Given the description of an element on the screen output the (x, y) to click on. 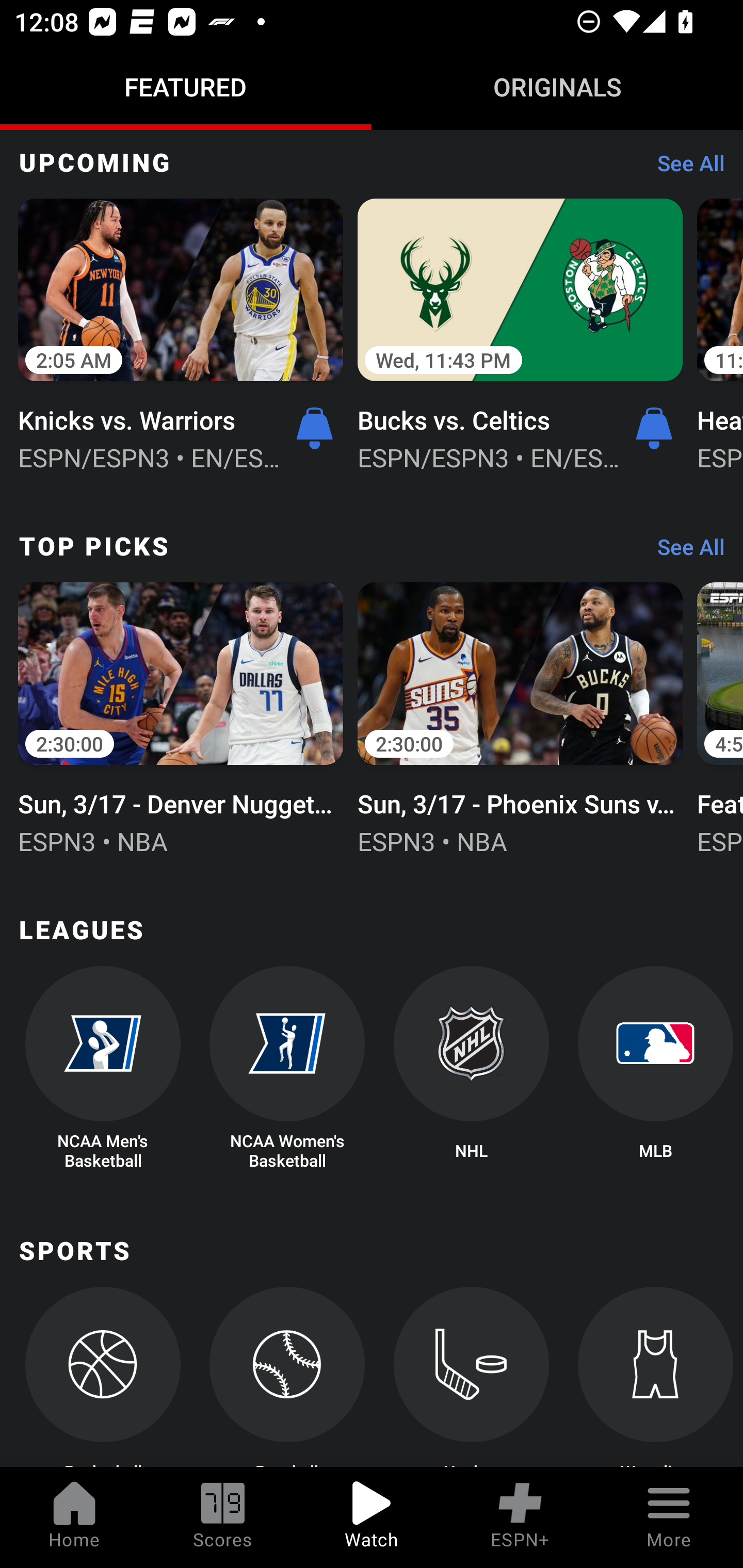
Originals ORIGINALS (557, 86)
See All (683, 167)
See All (683, 551)
NCAA Men's Basketball (102, 1068)
NCAA Women's Basketball (286, 1068)
NHL (471, 1068)
MLB (655, 1068)
Basketball (102, 1377)
Baseball (286, 1377)
Hockey (471, 1377)
Wrestling (655, 1377)
Home (74, 1517)
Scores (222, 1517)
ESPN+ (519, 1517)
More (668, 1517)
